Given the description of an element on the screen output the (x, y) to click on. 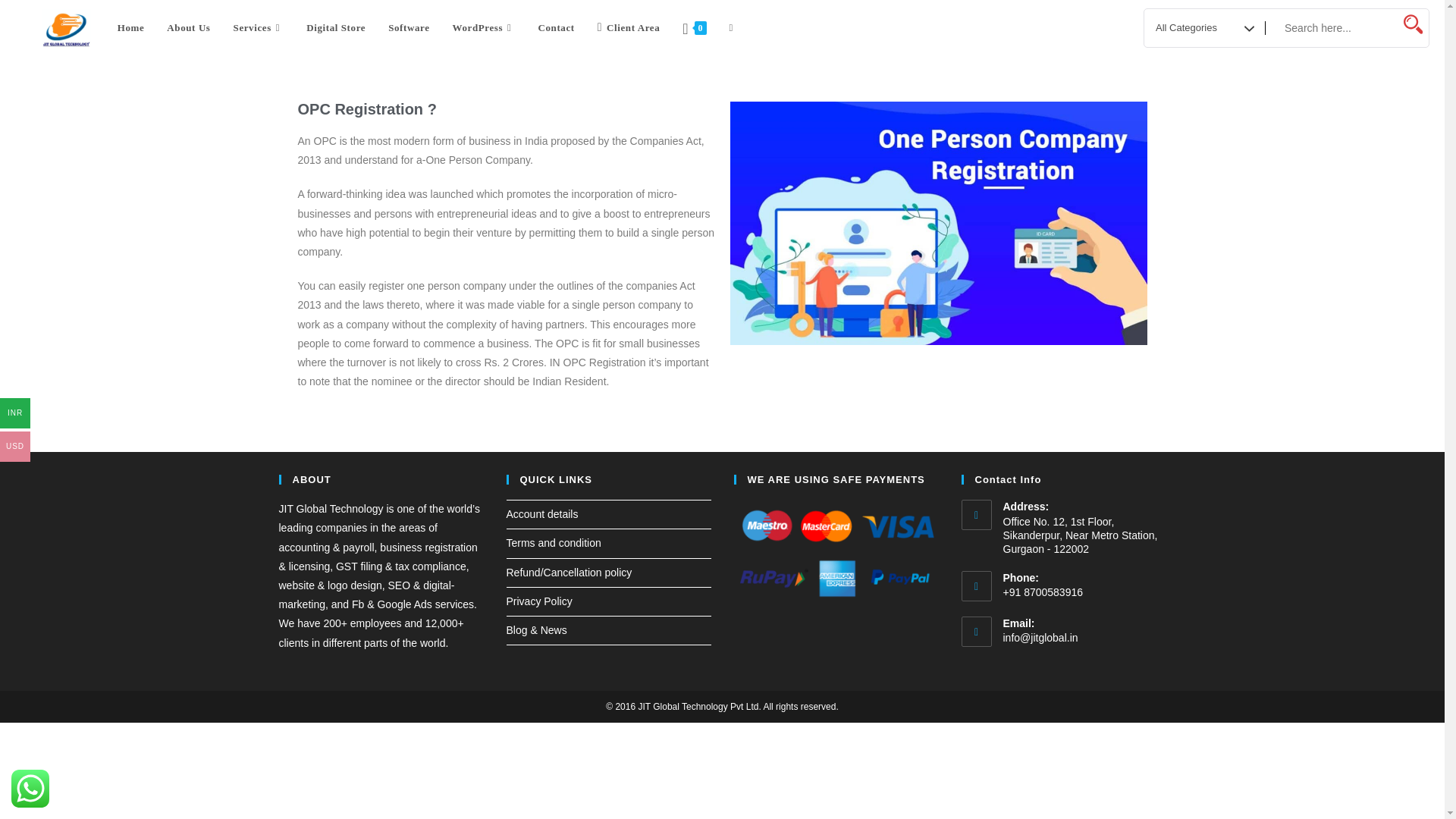
Services (258, 28)
Software (409, 28)
About Us (188, 28)
Contact (555, 28)
Client Area (628, 28)
WordPress (484, 28)
Home (130, 28)
Digital Store (336, 28)
